Given the description of an element on the screen output the (x, y) to click on. 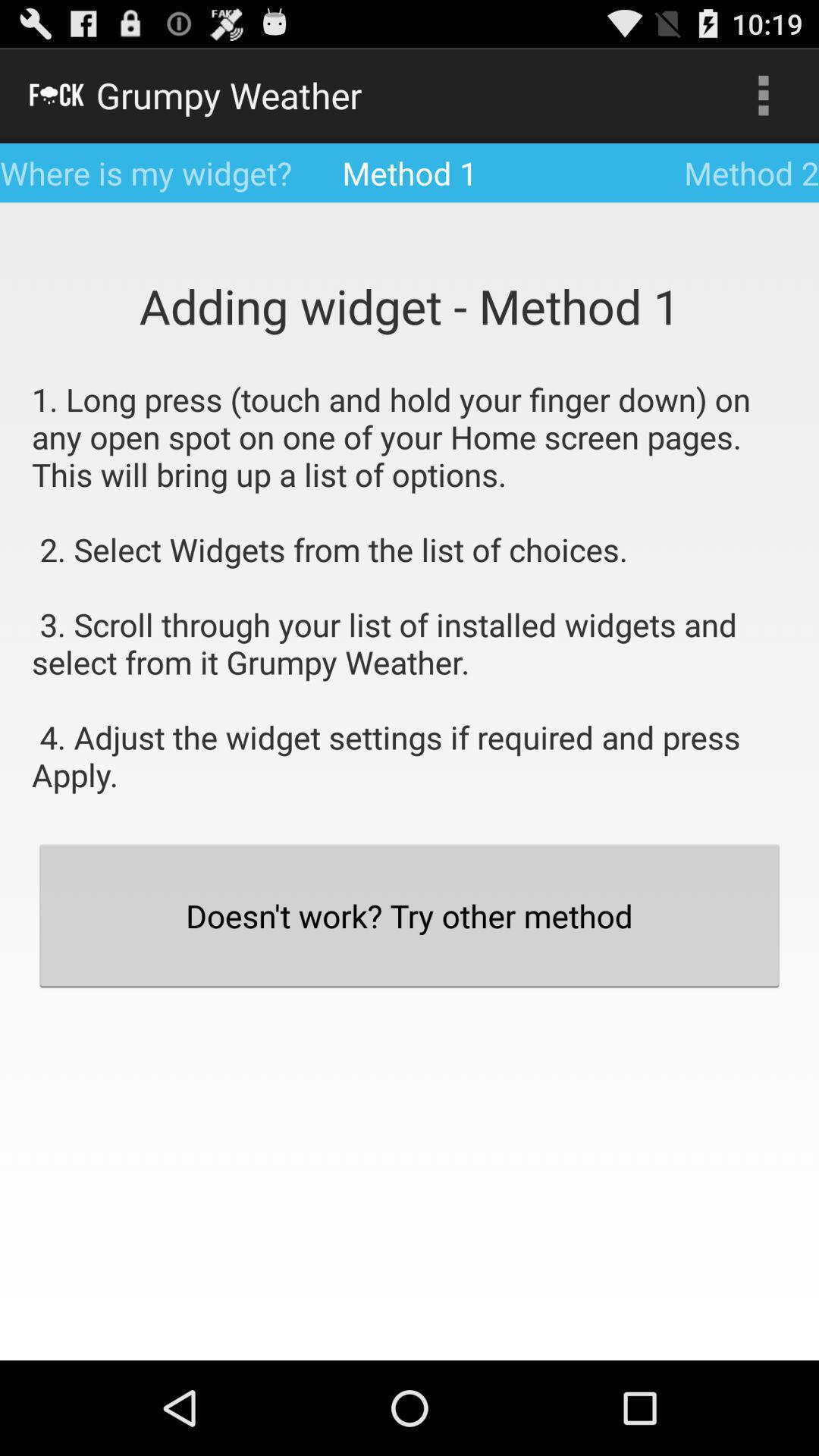
scroll until doesn t work (409, 915)
